Given the description of an element on the screen output the (x, y) to click on. 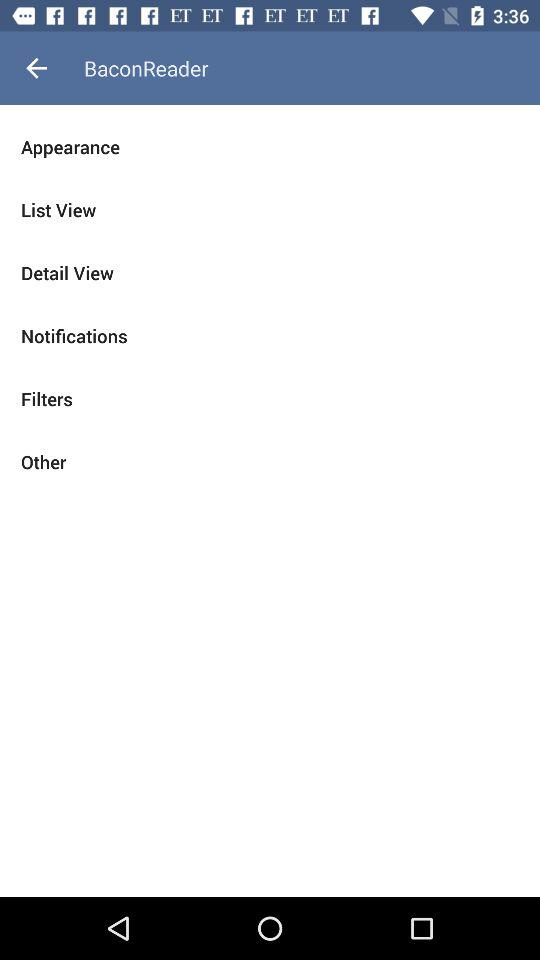
tap item above other item (270, 398)
